Given the description of an element on the screen output the (x, y) to click on. 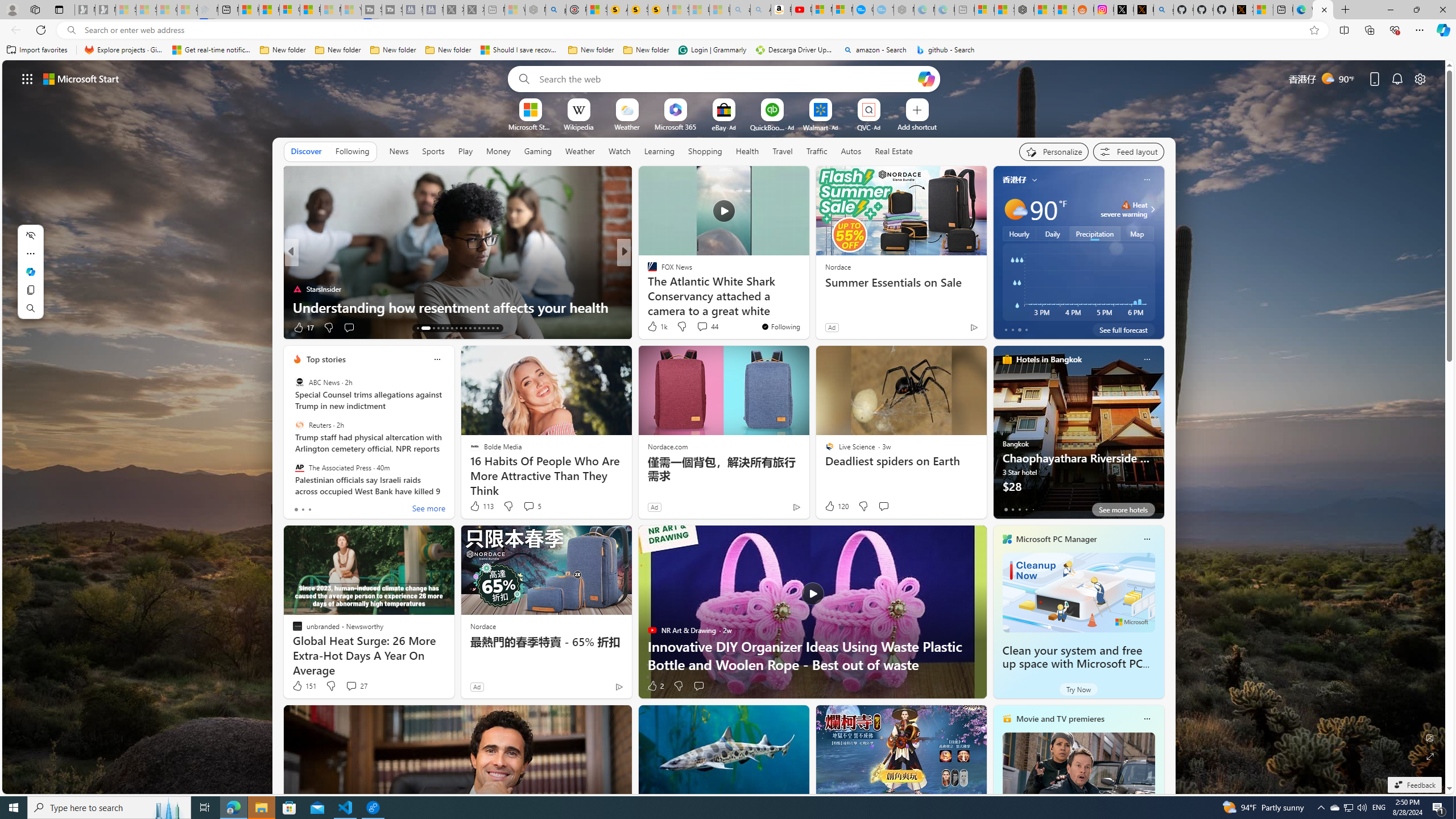
21 Like (652, 327)
View comments 4 Comment (702, 327)
You're following FOX News (780, 326)
39 Like (652, 327)
amazon - Search (875, 49)
X - Sleeping (473, 9)
My location (1033, 179)
Weather (580, 151)
Shanghai, China Weather trends | Microsoft Weather (1063, 9)
help.x.com | 524: A timeout occurred (1143, 9)
Start the conversation (698, 685)
AutomationID: tab-16 (438, 328)
